Given the description of an element on the screen output the (x, y) to click on. 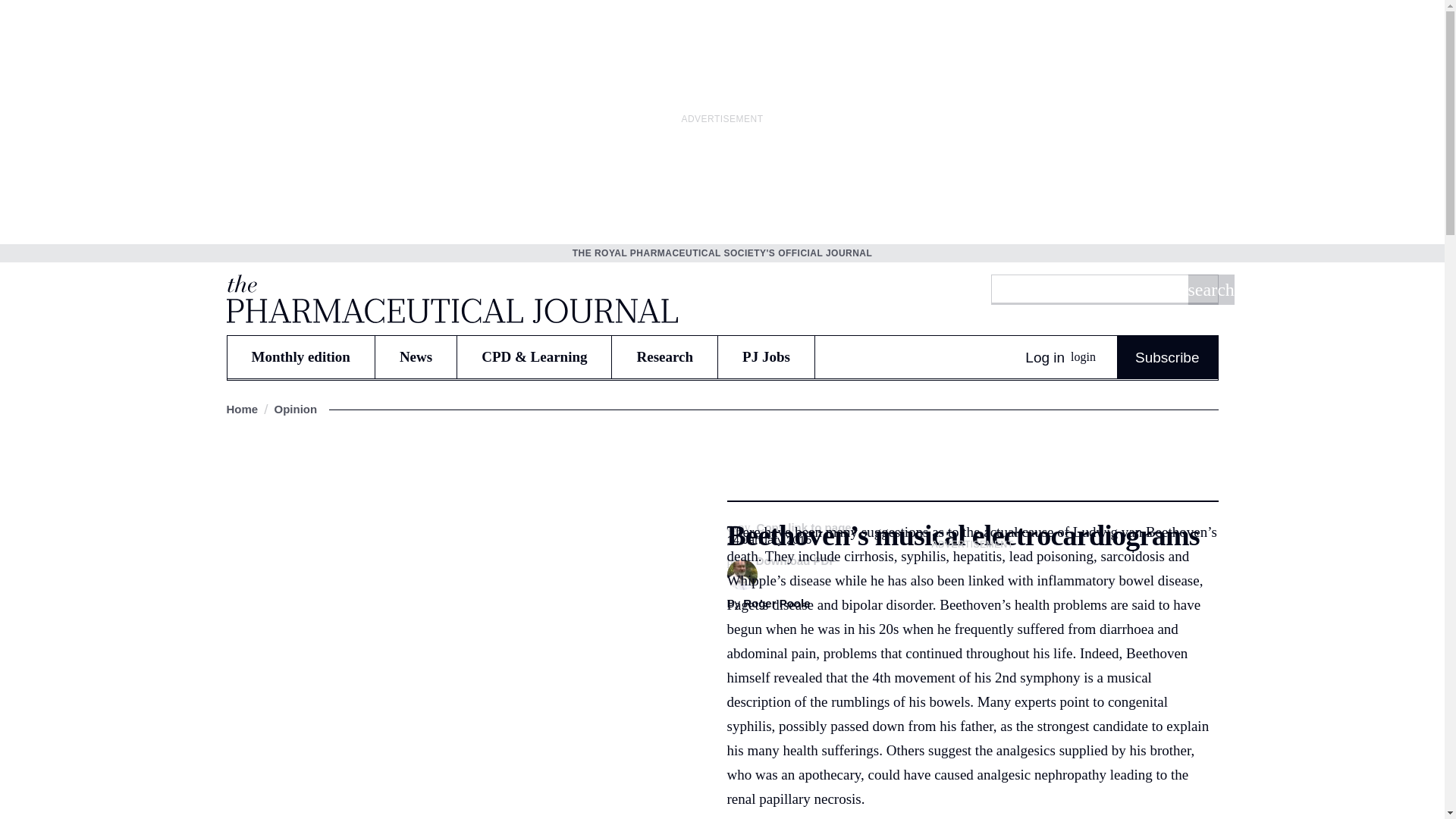
3rd party ad content (972, 651)
Search (1210, 289)
Monthly edition (300, 356)
The Pharmaceutical Journal (451, 298)
News (416, 356)
